Given the description of an element on the screen output the (x, y) to click on. 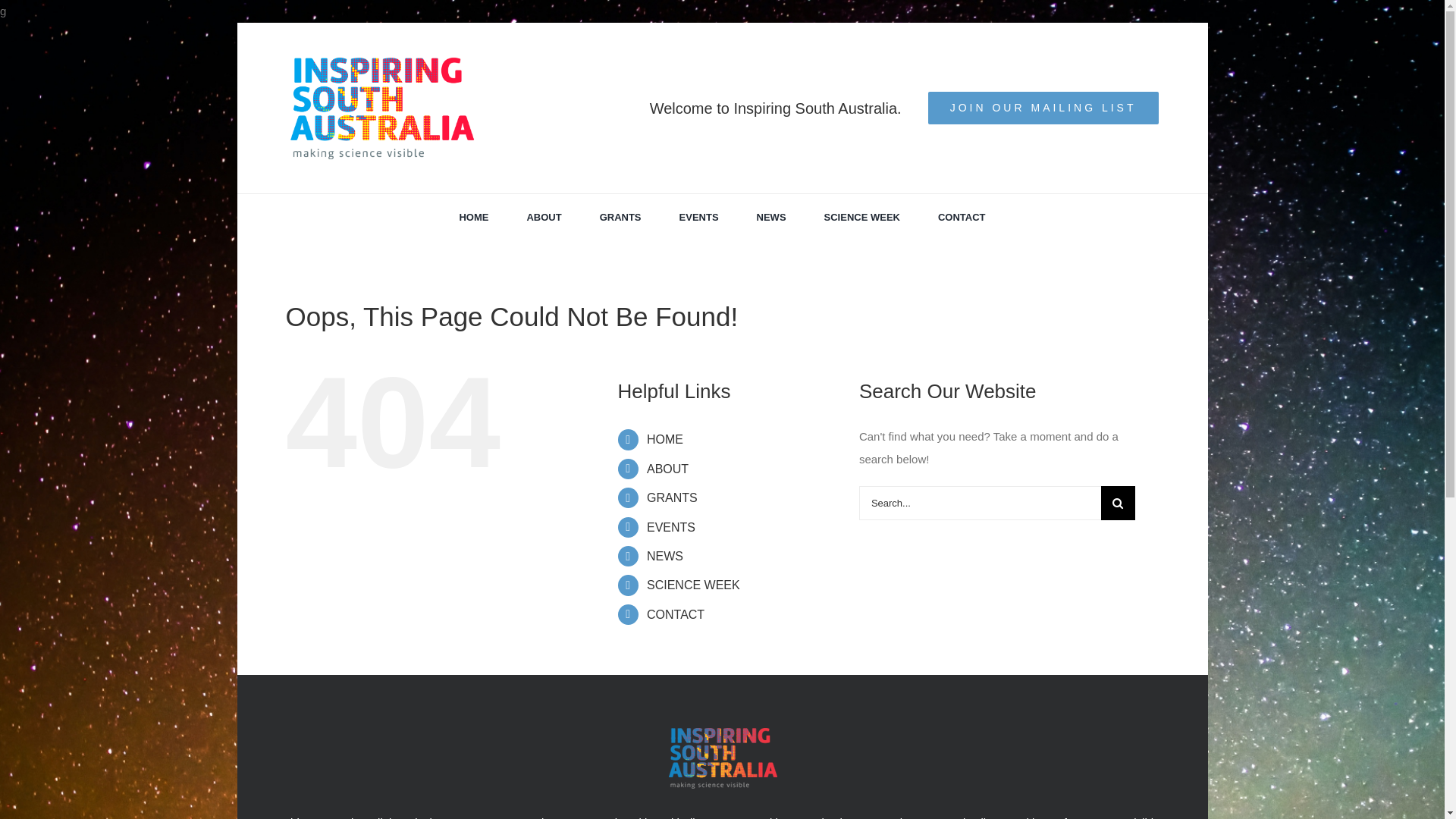
SCIENCE WEEK Element type: text (693, 584)
GRANTS Element type: text (620, 217)
GRANTS Element type: text (671, 497)
HOME Element type: text (664, 439)
CONTACT Element type: text (675, 614)
CONTACT Element type: text (961, 217)
NEWS Element type: text (664, 555)
ABOUT Element type: text (543, 217)
JOIN OUR MAILING LIST Element type: text (1043, 107)
ABOUT Element type: text (667, 468)
HOME Element type: text (473, 217)
NEWS Element type: text (771, 217)
EVENTS Element type: text (670, 526)
SCIENCE WEEK Element type: text (862, 217)
isa-whitelabel Element type: hover (721, 758)
EVENTS Element type: text (698, 217)
